Given the description of an element on the screen output the (x, y) to click on. 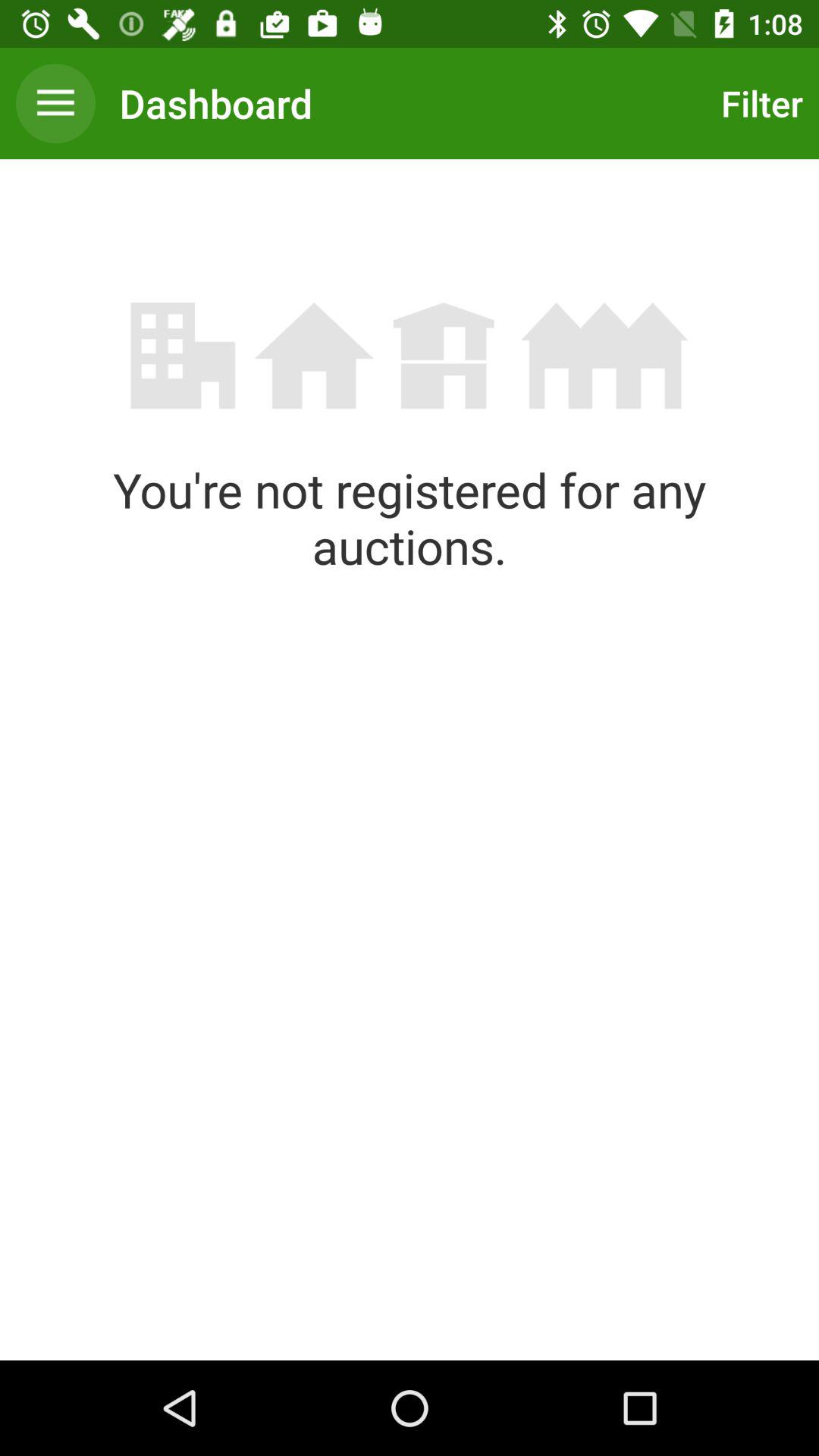
choose item to the right of the dashboard app (758, 103)
